Given the description of an element on the screen output the (x, y) to click on. 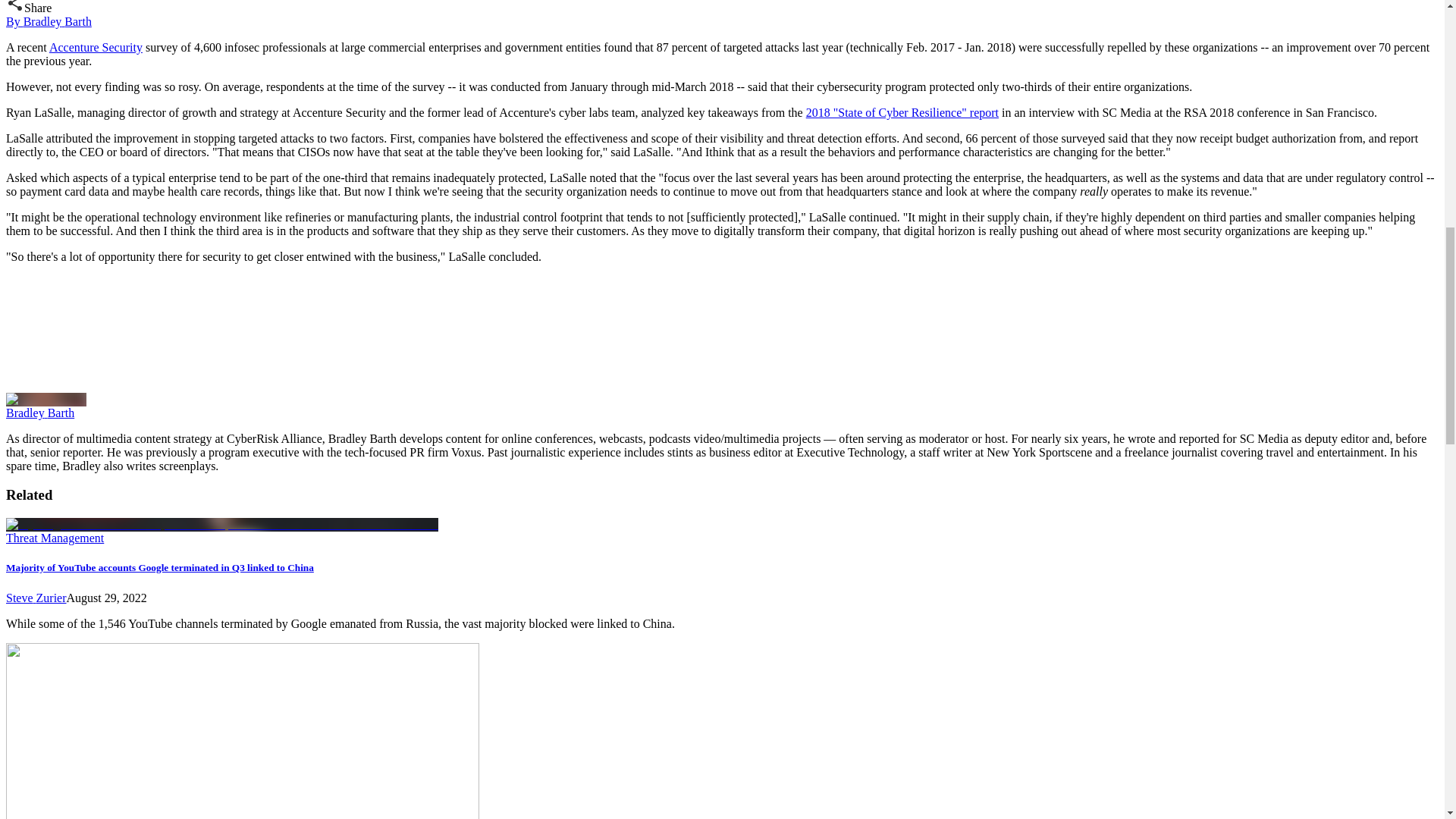
Accenture Security (95, 47)
By Bradley Barth (48, 21)
Threat Management (54, 537)
Bradley Barth (39, 412)
Watch Video (118, 332)
Steve Zurier (35, 597)
2018 "State of Cyber Resilience" report (902, 112)
